Given the description of an element on the screen output the (x, y) to click on. 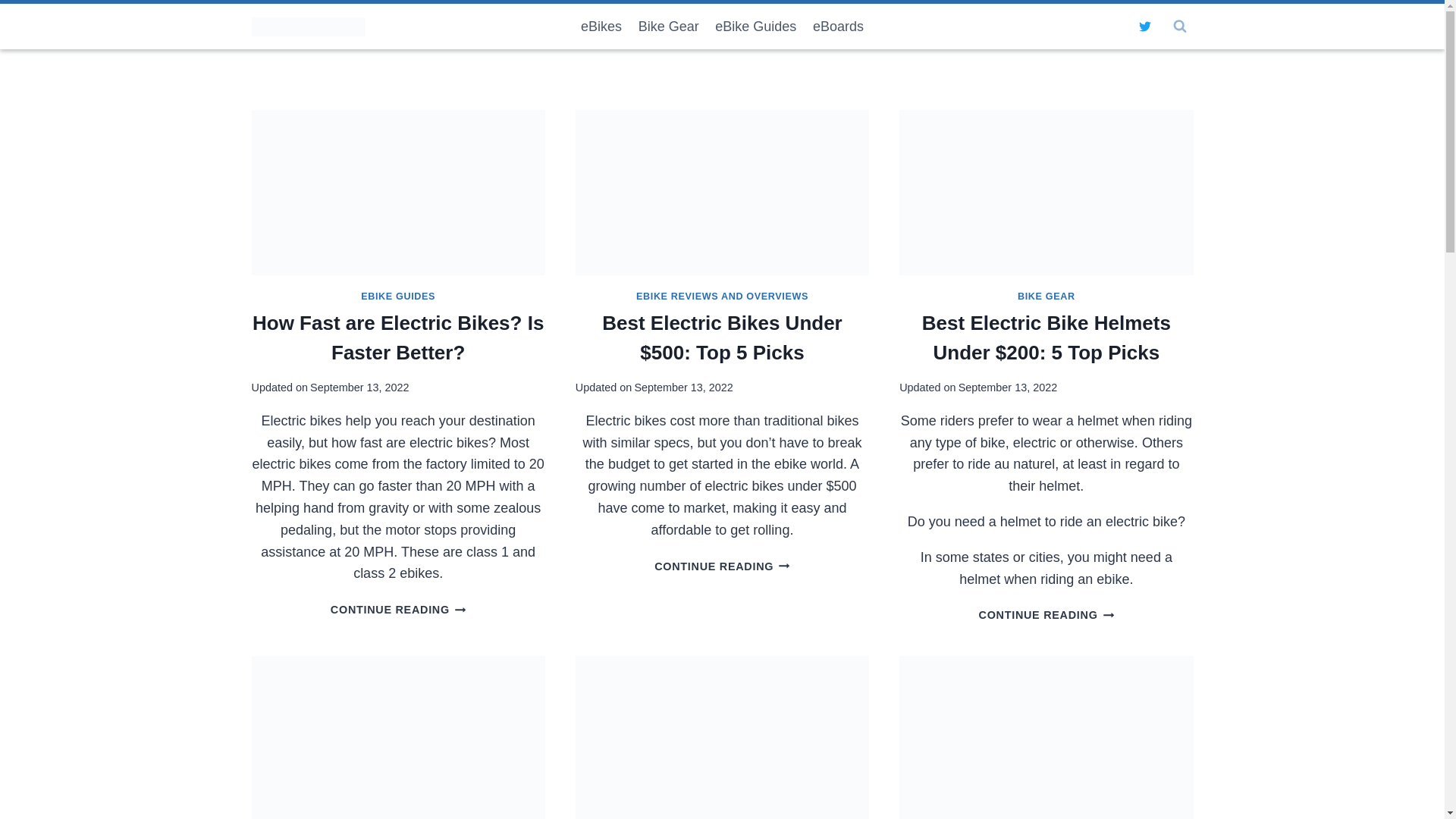
How Fast are Electric Bikes? Is Faster Better? 1 (397, 192)
How Fast are Electric Bikes? Is Faster Better? (397, 337)
EBIKE GUIDES (398, 296)
eBikes (601, 26)
eBike Guides (755, 26)
eBoards (838, 26)
BIKE GEAR (1046, 296)
Bike Gear (668, 26)
eBike Insurance: Is Your Electric Bike Covered? 6 (1045, 737)
